Given the description of an element on the screen output the (x, y) to click on. 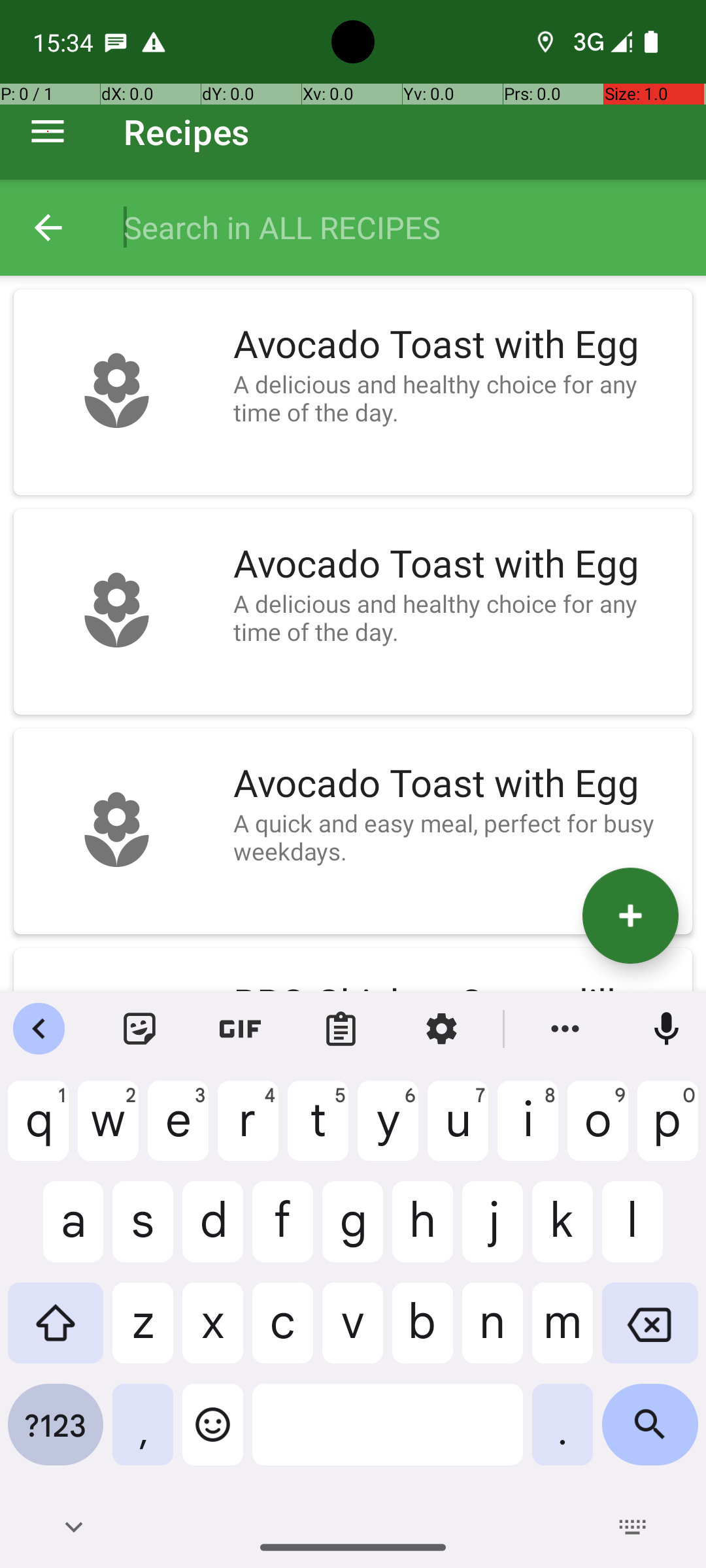
Collapse Element type: android.widget.ImageButton (48, 227)
Search in ALL RECIPES Element type: android.widget.AutoCompleteTextView (400, 227)
